Given the description of an element on the screen output the (x, y) to click on. 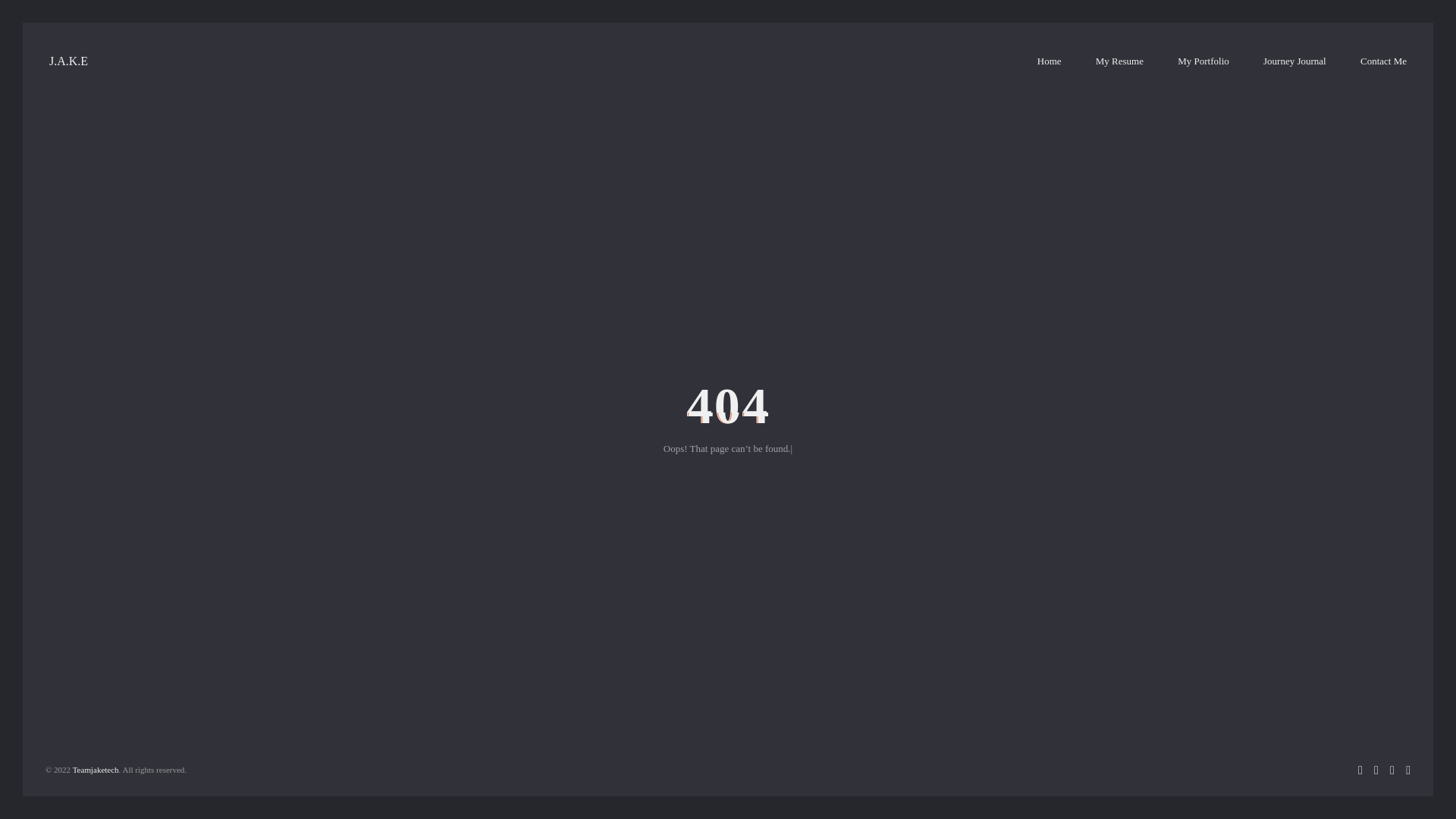
My Resume (1119, 60)
J.A.K.E (68, 60)
Journey Journal (1294, 60)
Contact Me (1382, 60)
My Portfolio (1202, 60)
Teamjaketech (95, 768)
